Given the description of an element on the screen output the (x, y) to click on. 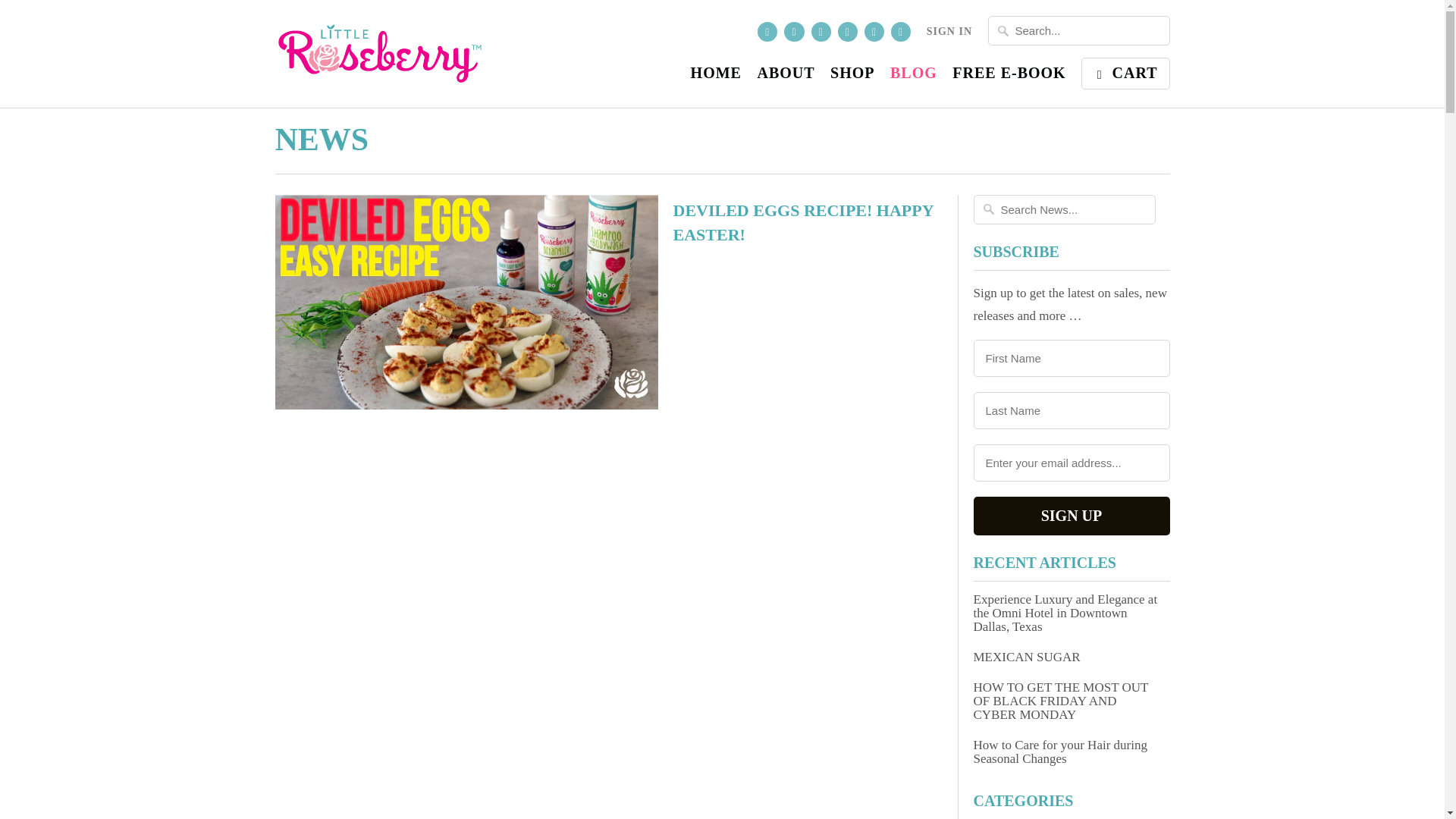
Deviled Eggs Recipe! Happy Easter! (466, 302)
Little Roseberry on Instagram (873, 31)
FREE E-BOOK (1008, 76)
Little Roseberry on Twitter (767, 31)
Cart (1125, 73)
HOW TO GET THE MOST OUT OF BLACK FRIDAY AND CYBER MONDAY (1072, 700)
Sign Up (1072, 515)
ABOUT (785, 76)
Sign Up (1072, 515)
MEXICAN SUGAR (1072, 657)
Little Roseberry (380, 53)
HOME (715, 76)
HOW TO GET THE MOST OUT OF BLACK FRIDAY AND CYBER MONDAY (1072, 700)
